Given the description of an element on the screen output the (x, y) to click on. 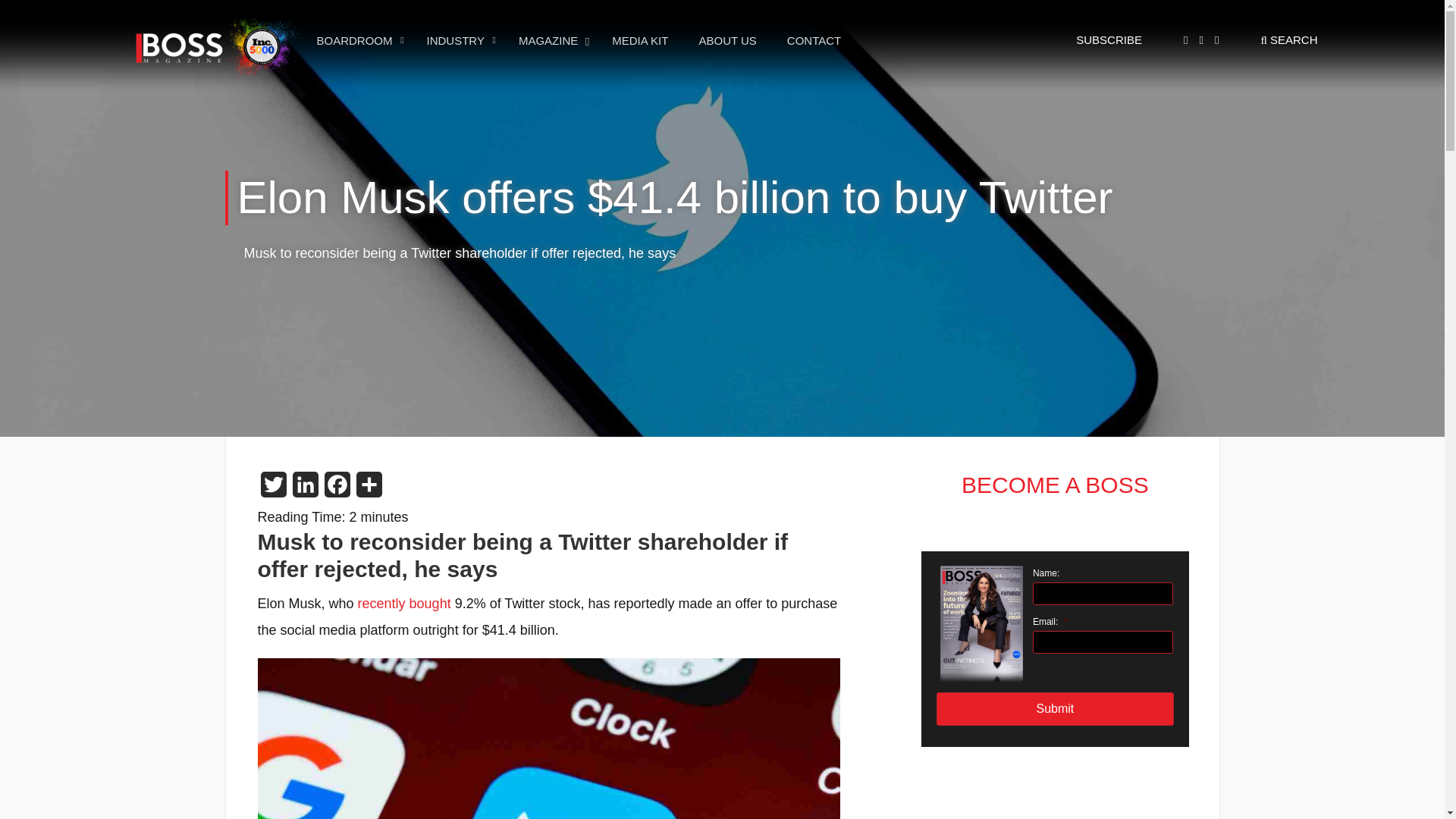
BOSS Magazine (214, 47)
Current BOSS Magazine Publication (579, 40)
Facebook (981, 624)
Twitter (337, 488)
LinkedIn (273, 488)
